Given the description of an element on the screen output the (x, y) to click on. 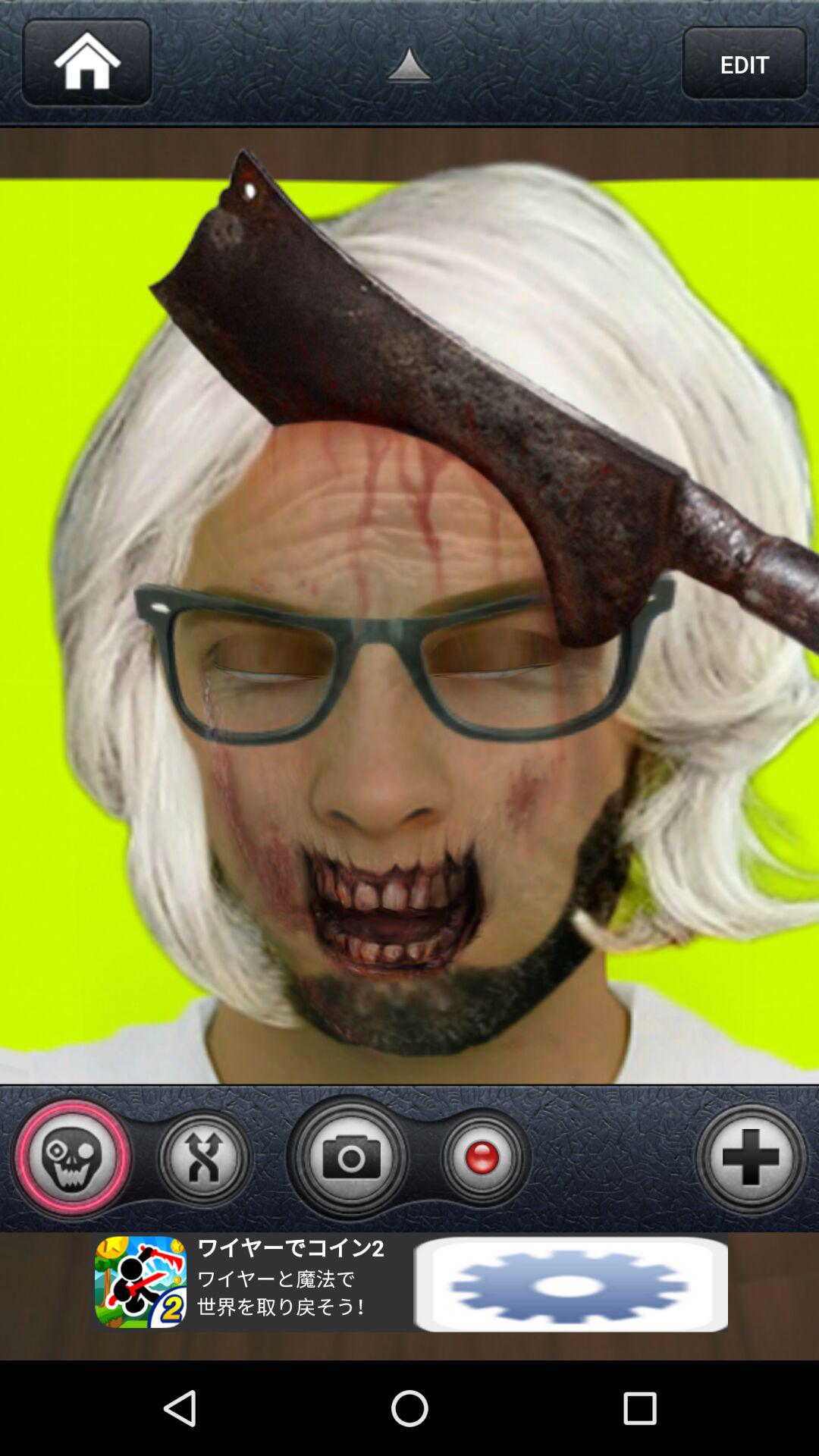
record person (482, 1157)
